Given the description of an element on the screen output the (x, y) to click on. 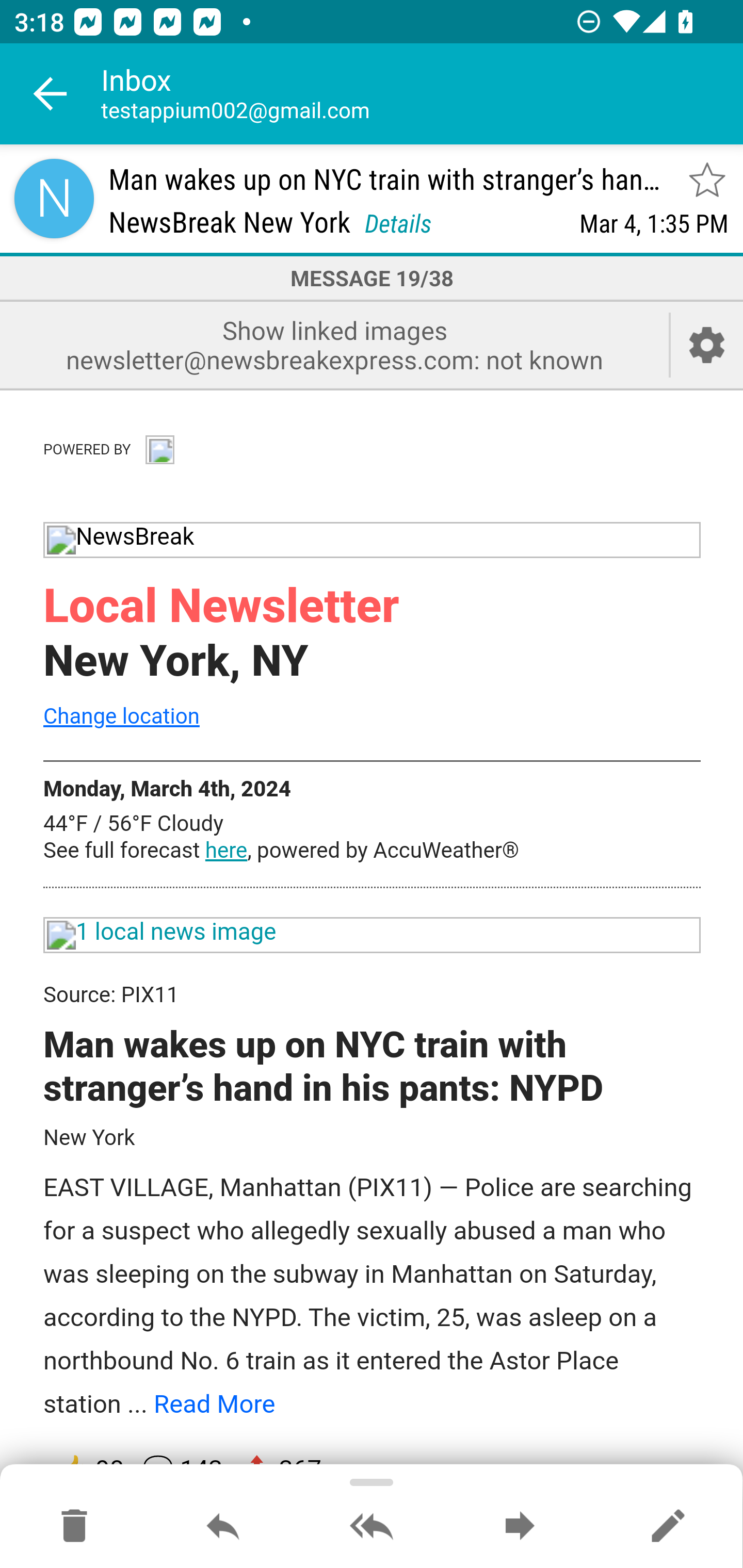
Navigate up (50, 93)
Inbox testappium002@gmail.com (422, 93)
Sender contact button (53, 198)
Account setup (706, 344)
info (159, 447)
Change location (121, 715)
here (225, 850)
1 local news image (372, 935)
Move to Deleted (74, 1527)
Reply (222, 1527)
Reply all (371, 1527)
Forward (519, 1527)
Reply as new (667, 1527)
